Given the description of an element on the screen output the (x, y) to click on. 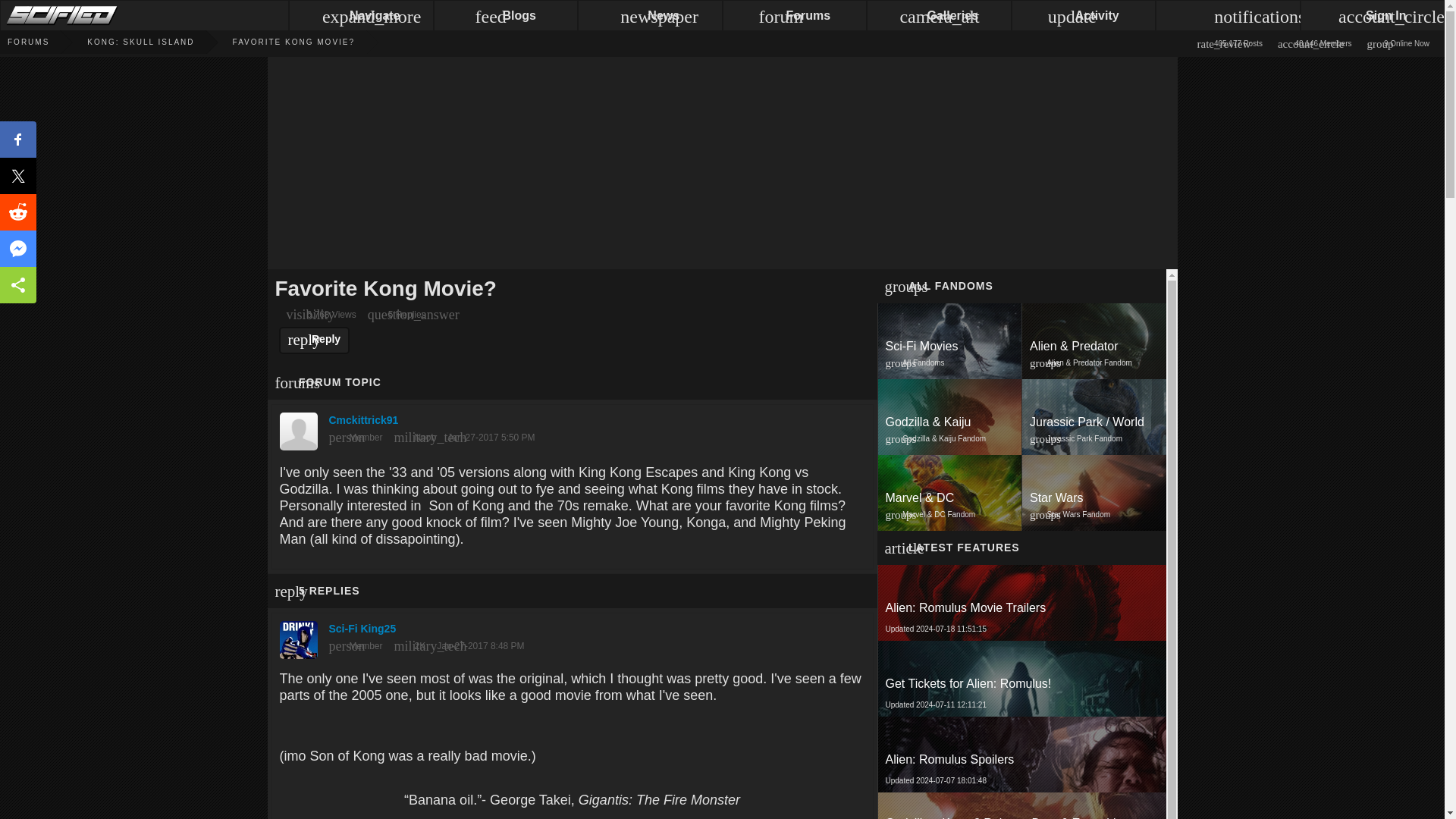
Sci-Fi Movies (950, 346)
Favorite Kong Movie? (275, 42)
Reply (314, 339)
Alien: Romulus Spoilers (1022, 759)
Forums (1021, 754)
Kong: Skull Island (949, 341)
FORUMS (1094, 492)
FAVORITE KONG MOVIE? (1021, 678)
